Given the description of an element on the screen output the (x, y) to click on. 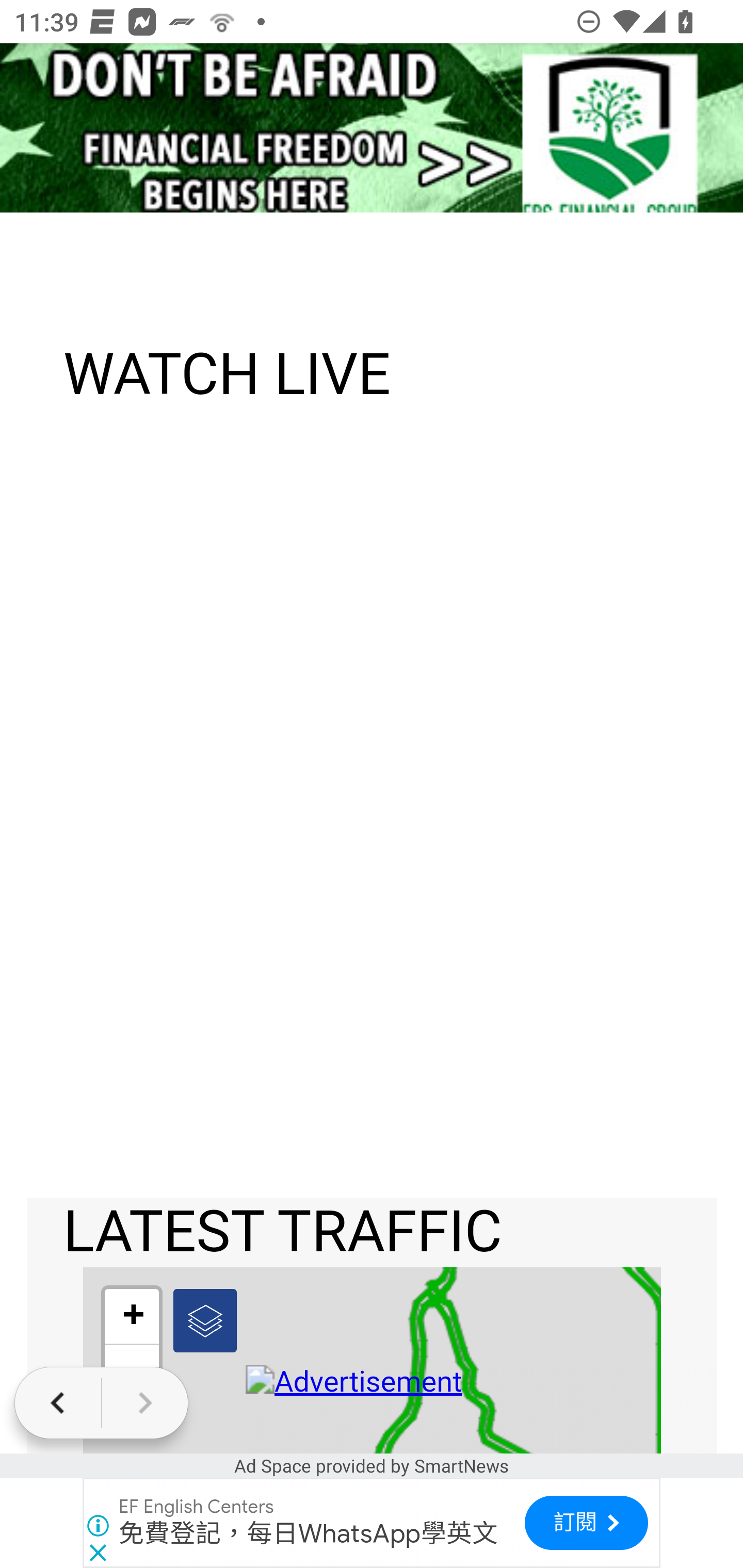
image_mobile_takeover (371, 126)
Zoom in (132, 1317)
EF English Centers (196, 1507)
訂閱 (586, 1522)
免費登記，每日WhatsApp學英文 (308, 1533)
